Given the description of an element on the screen output the (x, y) to click on. 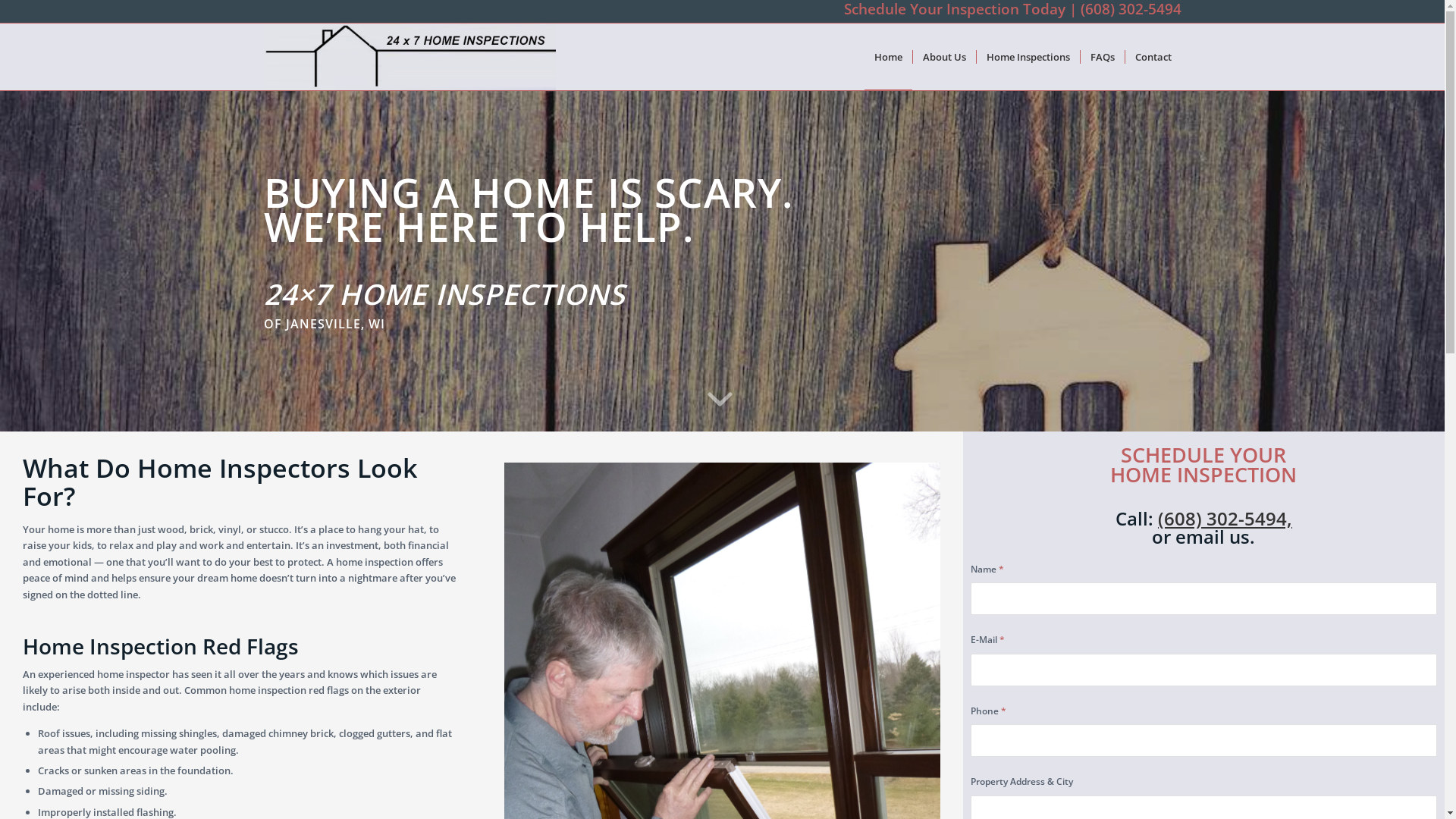
FAQs Element type: text (1101, 56)
Logo Element type: hover (409, 56)
Home Inspections Element type: text (1027, 56)
(608) 302-5494, Element type: text (1224, 517)
About Us Element type: text (943, 56)
Contact Element type: text (1151, 56)
Home Element type: text (888, 56)
